Given the description of an element on the screen output the (x, y) to click on. 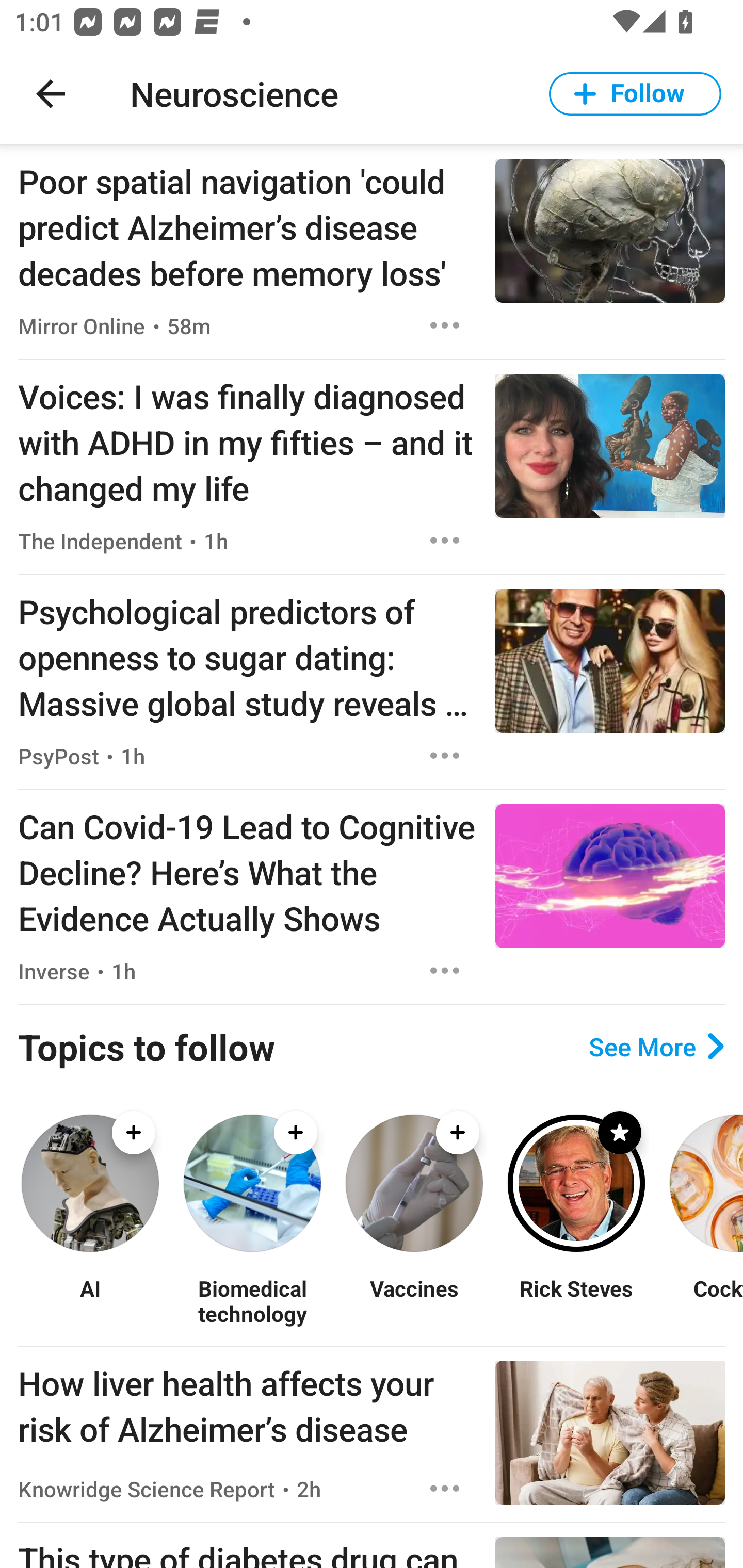
Navigate up (50, 93)
Follow (635, 94)
Options (444, 325)
Options (444, 540)
Options (444, 755)
Options (444, 970)
See More (656, 1046)
AI (89, 1300)
Biomedical technology (251, 1300)
Vaccines (413, 1300)
Rick Steves (575, 1300)
Options (444, 1488)
